Given the description of an element on the screen output the (x, y) to click on. 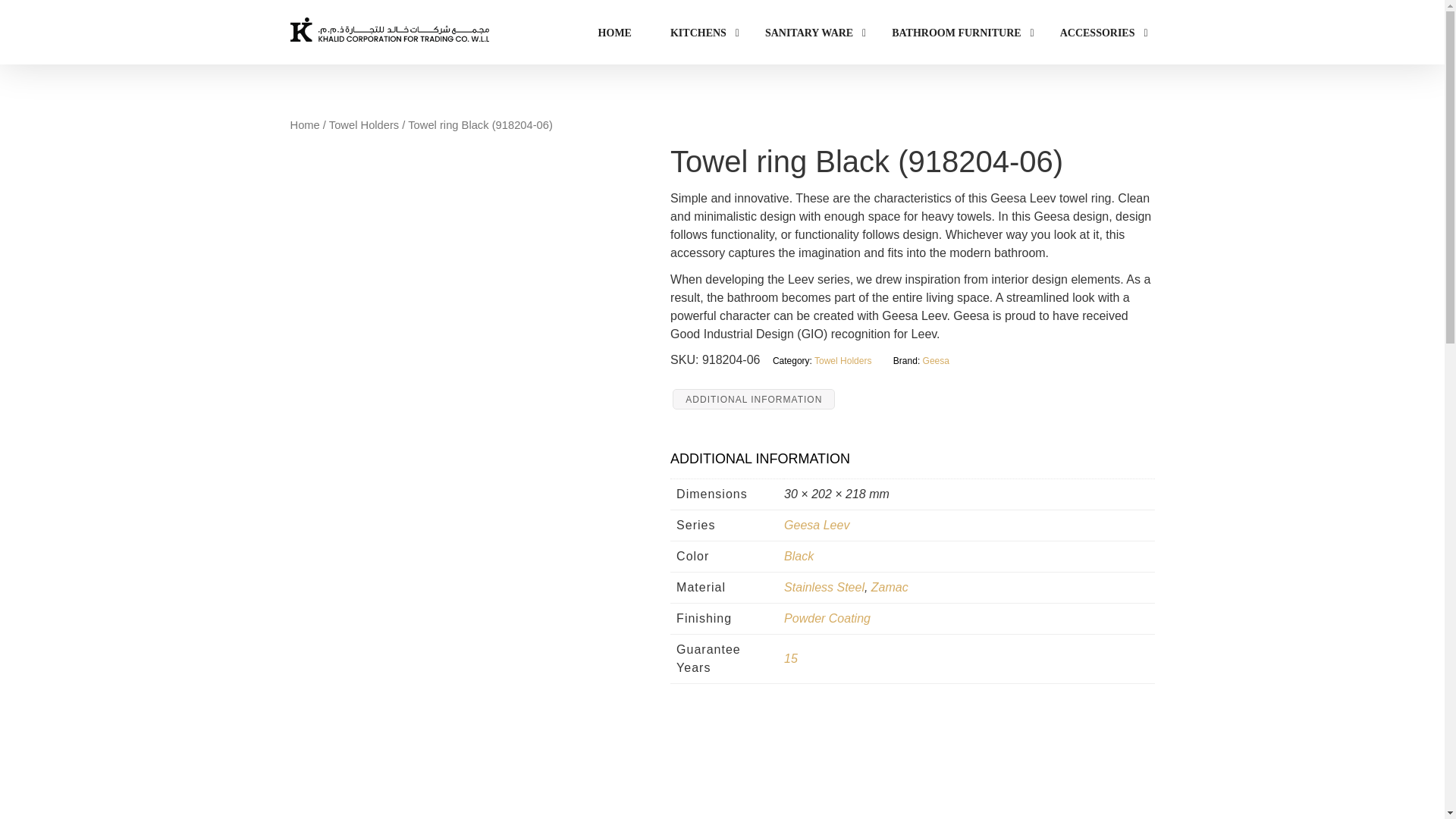
Towel Holders (363, 124)
Home (303, 124)
BATHROOM FURNITURE (955, 32)
Zamac (889, 586)
ADDITIONAL INFORMATION (753, 399)
Geesa (936, 360)
Stainless Steel (824, 586)
ACCESSORIES (1097, 32)
Towel Holders (841, 360)
Black (798, 555)
Sanitary Ware (808, 32)
SANITARY WARE (808, 32)
Geesa Leev (816, 524)
Bathroom Furniture (955, 32)
Kitchens (697, 32)
